Given the description of an element on the screen output the (x, y) to click on. 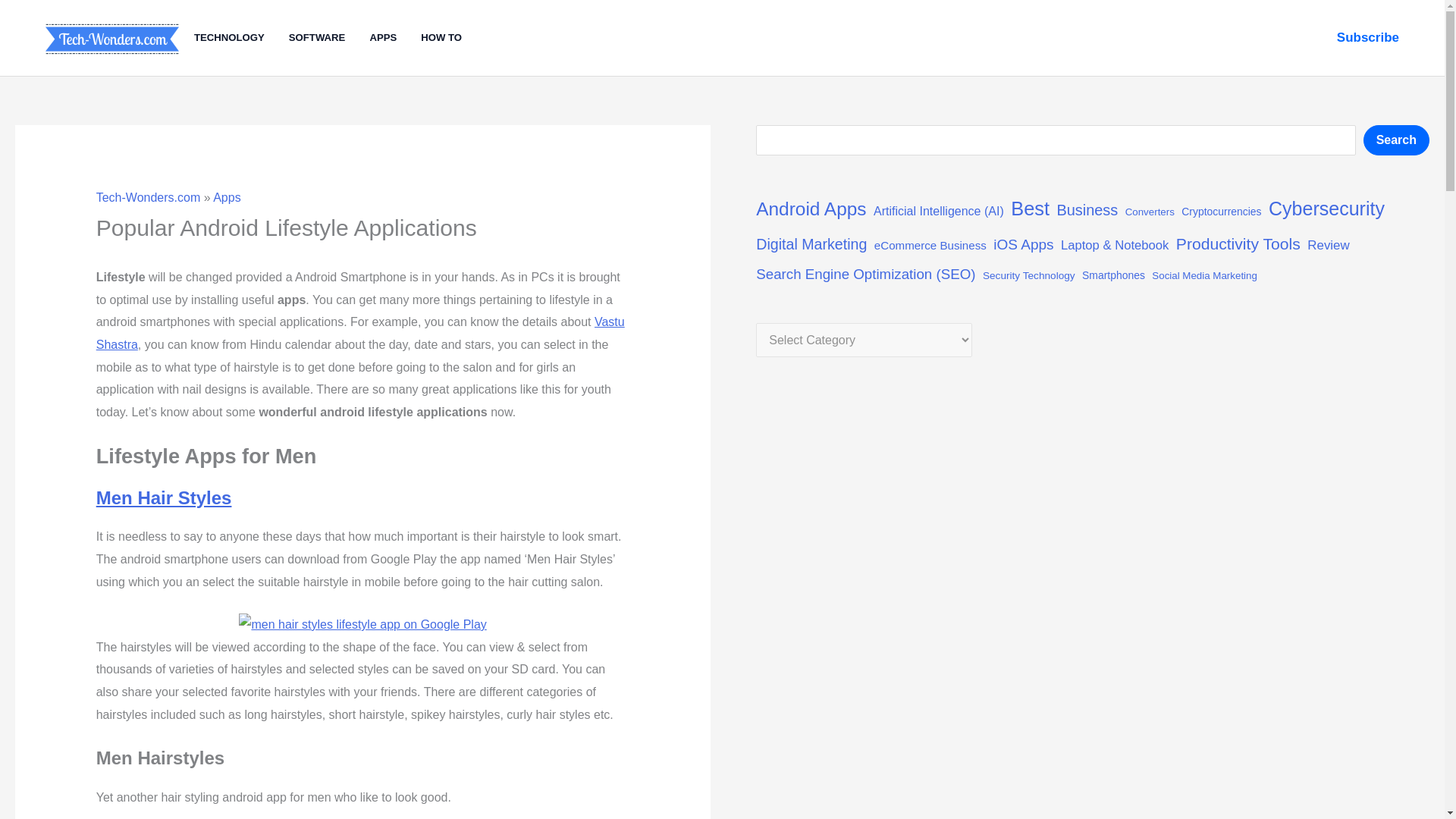
Vastu Shastra (360, 333)
SOFTWARE (328, 38)
Men Hair Styles (163, 497)
Search (1395, 140)
TECHNOLOGY (240, 38)
Tech-Wonders.com (148, 196)
Subscribe (1367, 37)
Apps (226, 196)
Men Hairstyles Categories (362, 623)
